Given the description of an element on the screen output the (x, y) to click on. 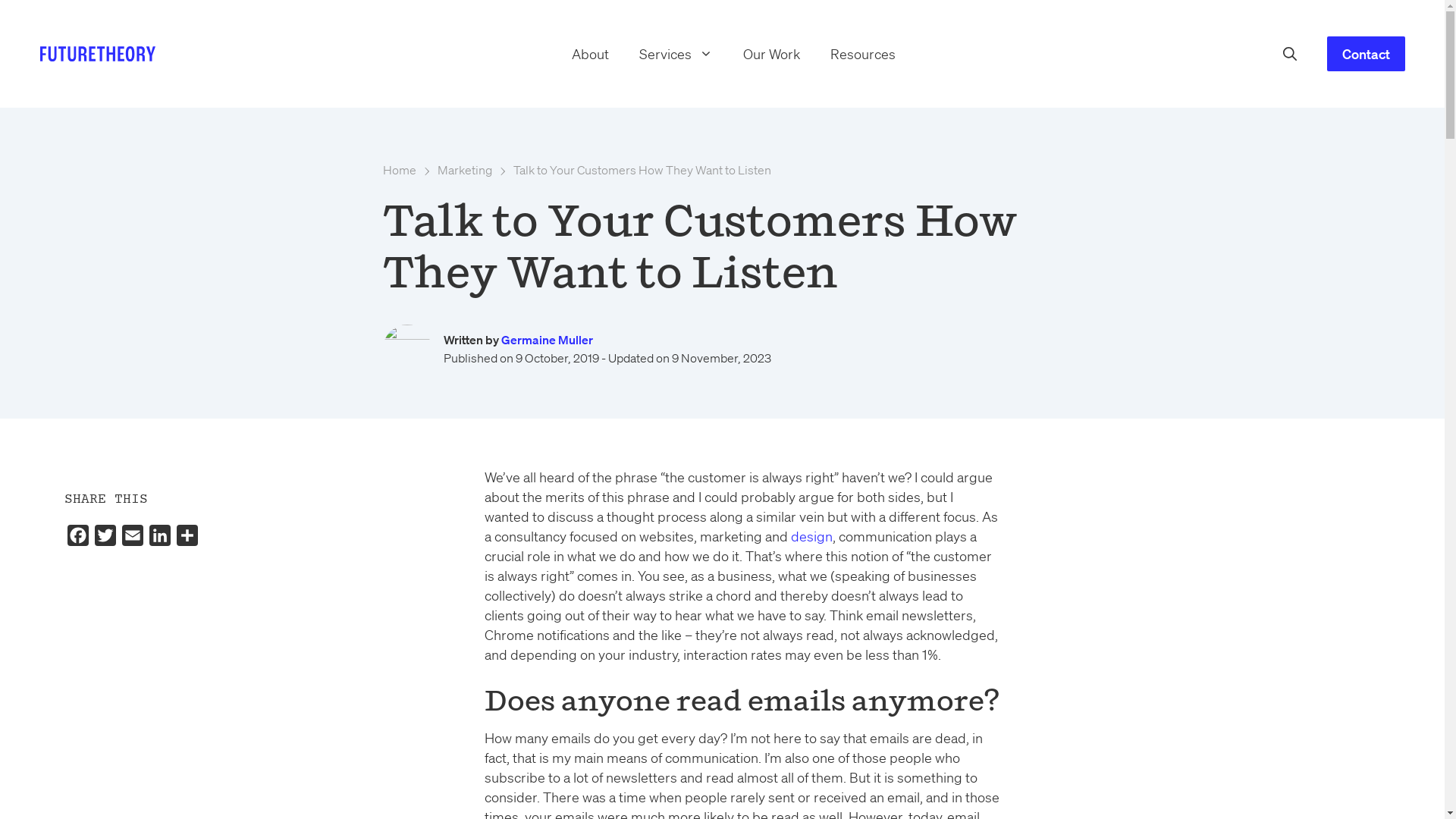
Home Element type: text (398, 169)
Resources Element type: text (862, 53)
Services Element type: text (676, 53)
LinkedIn Element type: text (158, 538)
Facebook Element type: text (77, 538)
Contact Element type: text (1366, 53)
Our Work Element type: text (771, 53)
Share Element type: text (186, 538)
Marketing Element type: text (463, 169)
About Element type: text (590, 53)
design Element type: text (810, 535)
Germaine Muller Element type: text (546, 339)
Email Element type: text (131, 538)
Twitter Element type: text (104, 538)
